Given the description of an element on the screen output the (x, y) to click on. 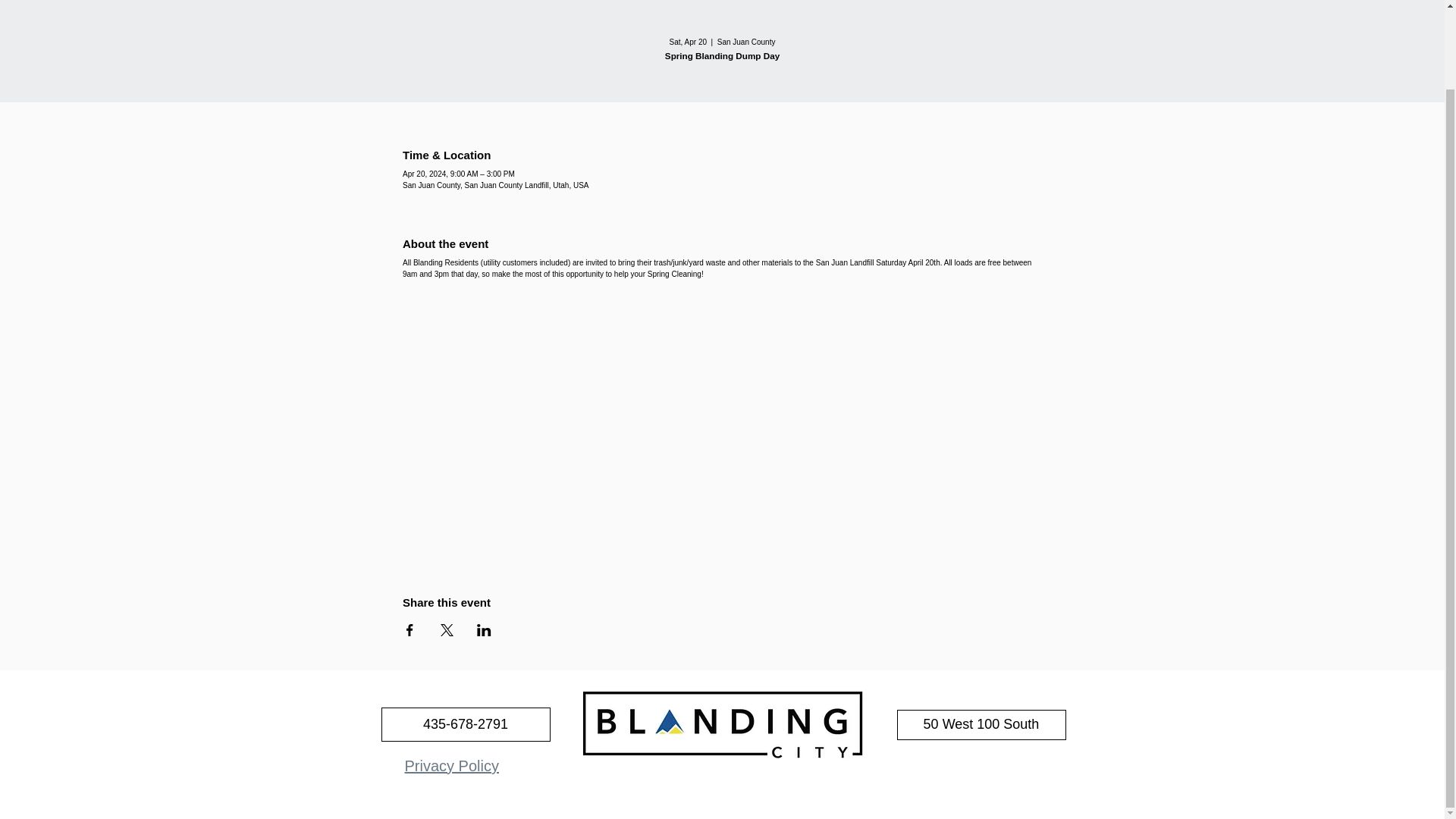
435-678-2791 (465, 724)
50 West 100 South (980, 725)
Privacy Policy (451, 765)
